Given the description of an element on the screen output the (x, y) to click on. 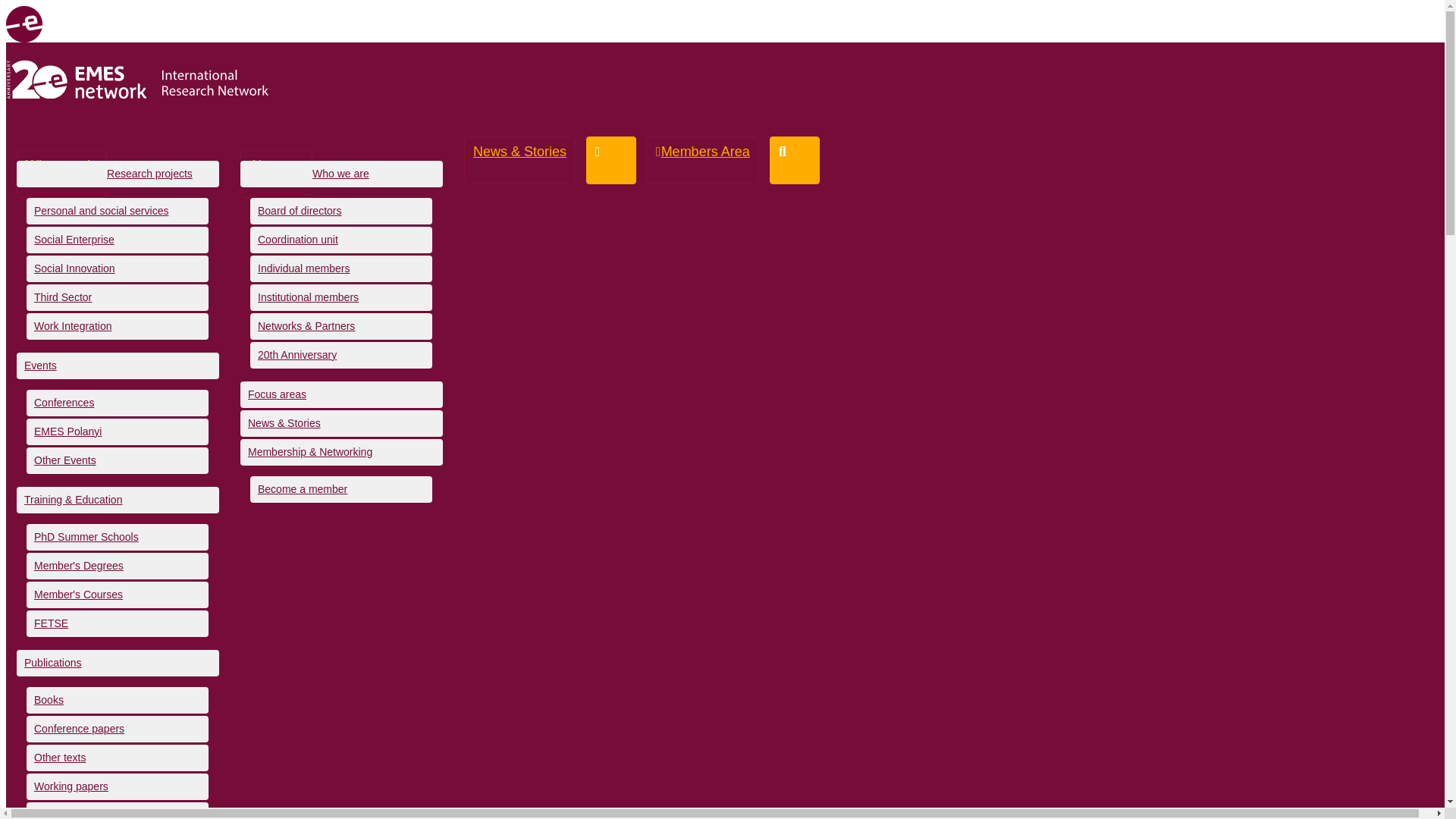
Members' publications (117, 810)
Other texts (117, 757)
Individual members (341, 267)
FETSE (117, 622)
Social Innovation (117, 267)
Focus areas (341, 393)
Board of directors (341, 210)
What we do (61, 173)
20th Anniversary (341, 354)
EMES Polanyi (117, 431)
Become a member (341, 488)
Books (117, 700)
Publications (117, 662)
Conference papers (117, 728)
Other Events (117, 460)
